Given the description of an element on the screen output the (x, y) to click on. 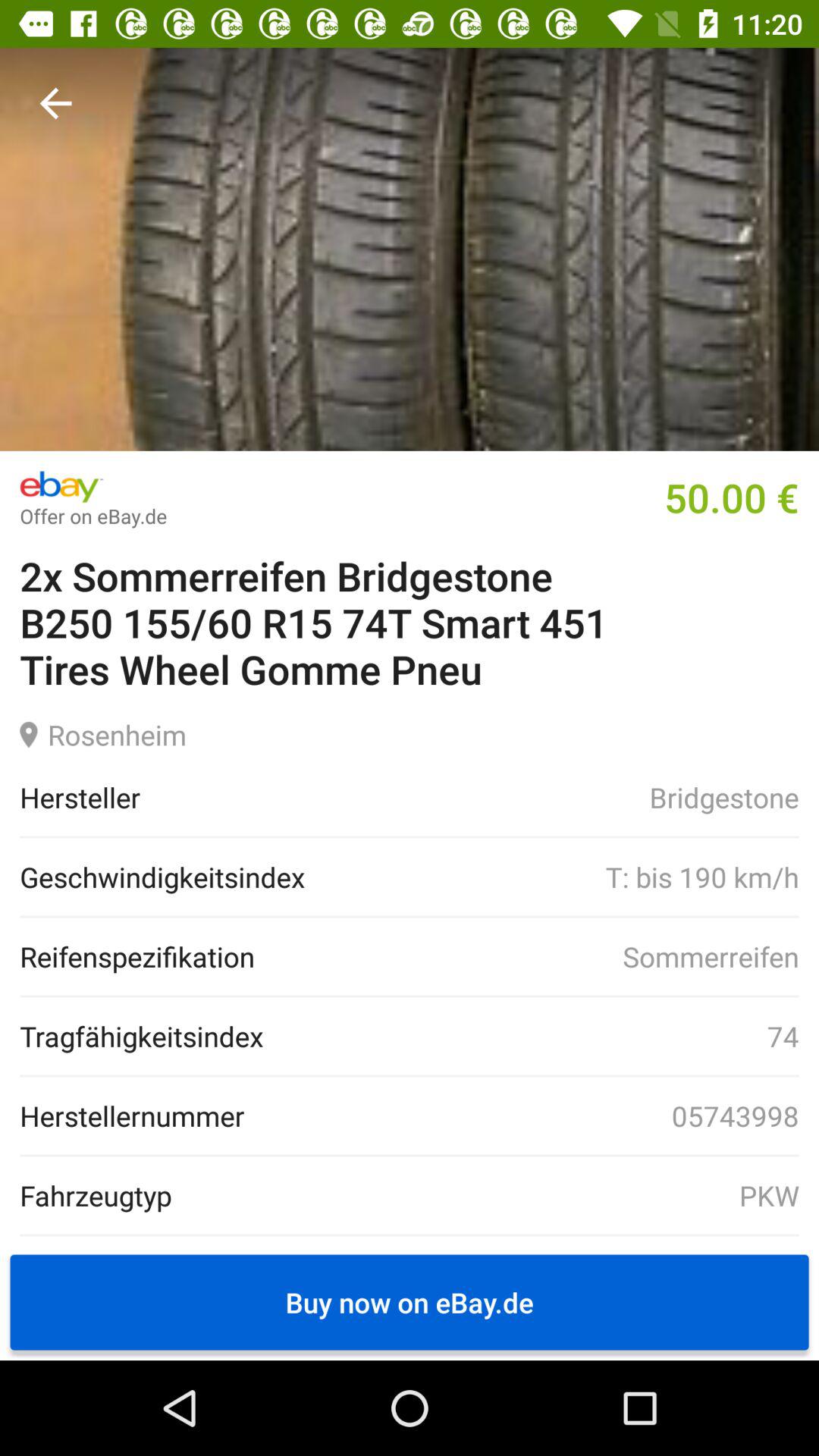
swipe to 05743998 item (521, 1115)
